Given the description of an element on the screen output the (x, y) to click on. 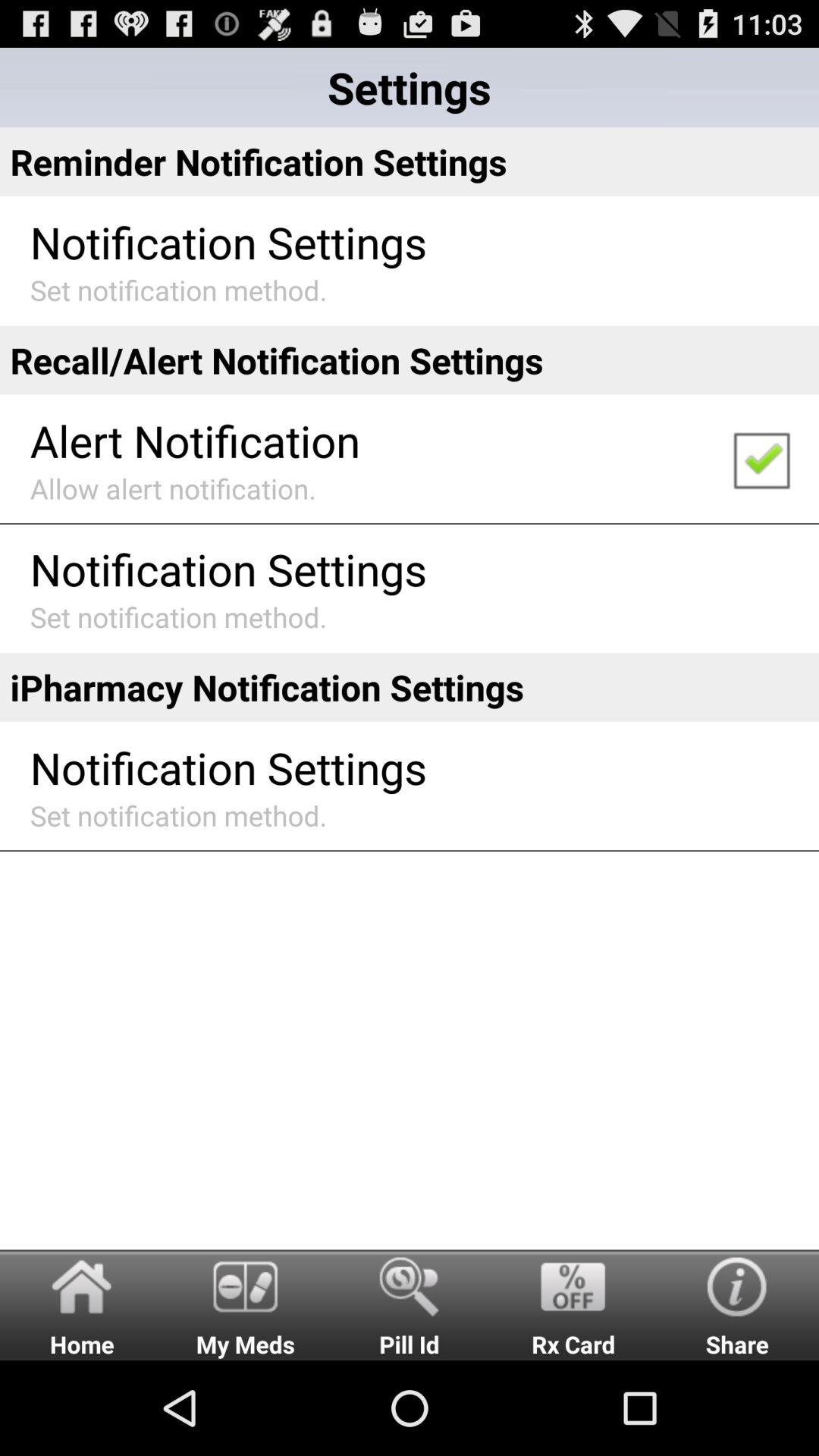
choose the icon next to the rx card icon (409, 1304)
